Given the description of an element on the screen output the (x, y) to click on. 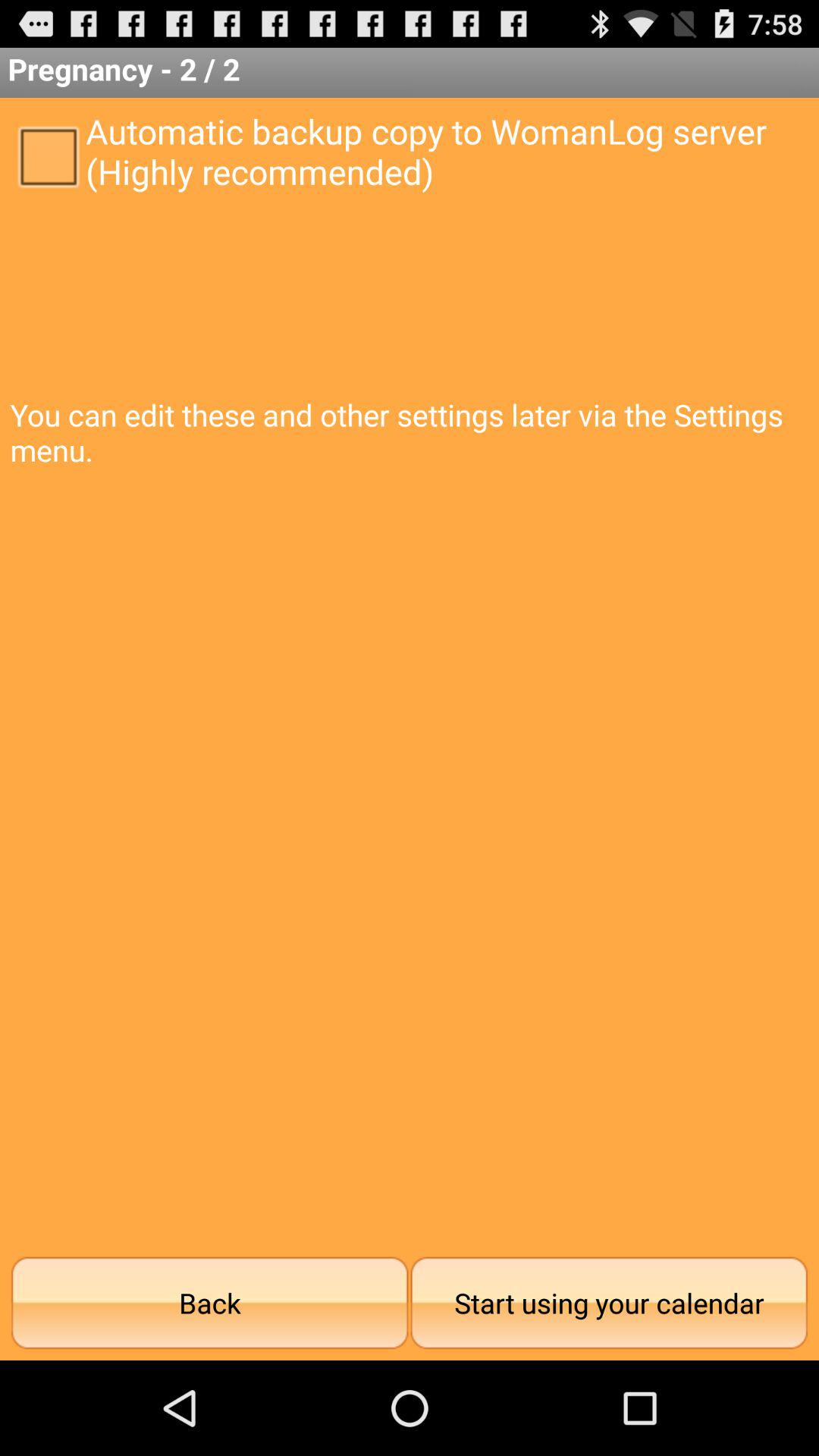
open the item to the left of start using your item (209, 1302)
